Given the description of an element on the screen output the (x, y) to click on. 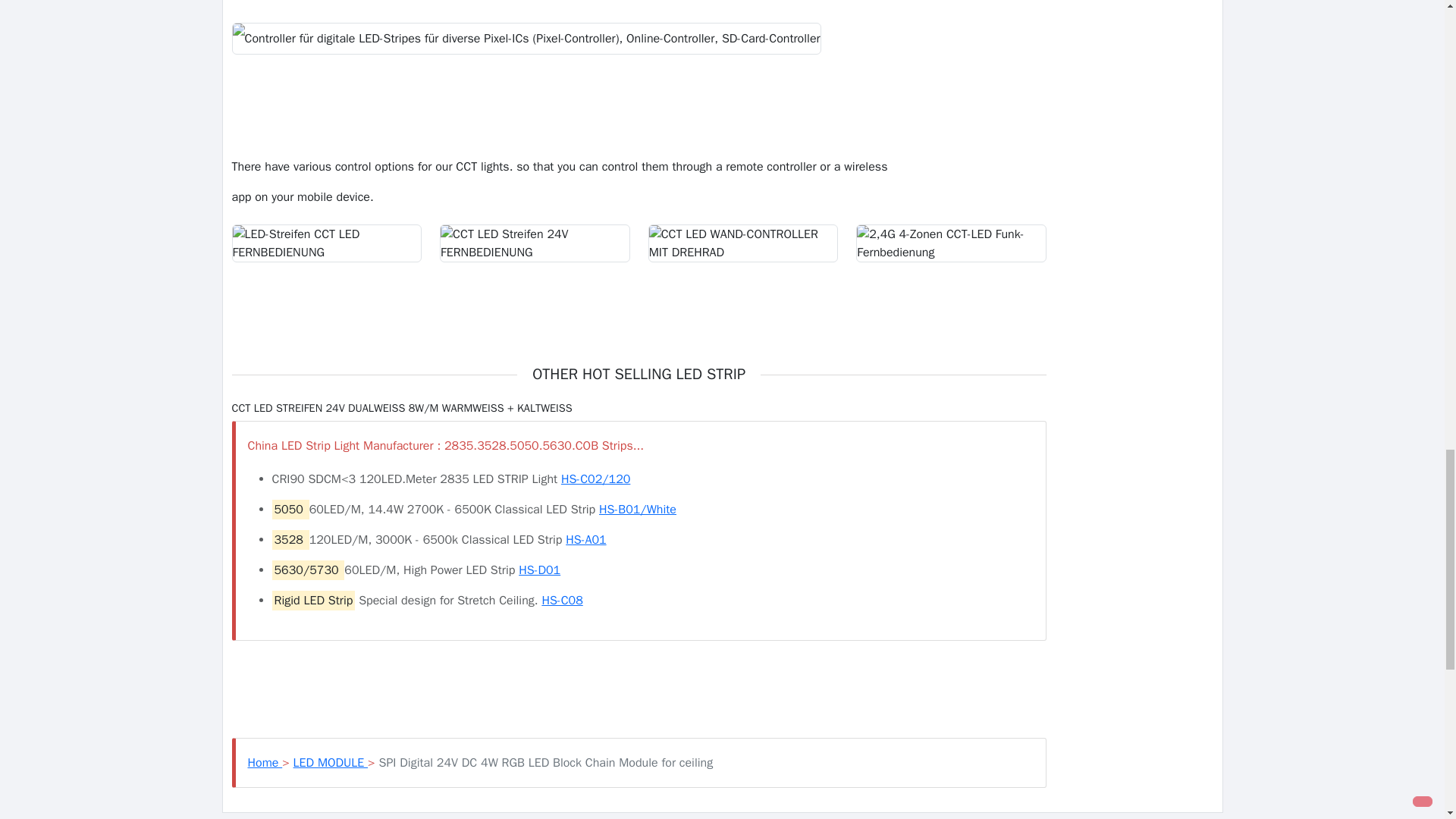
Home (264, 762)
HS-D01 (539, 570)
HS-A01 (585, 539)
HS-C08 (561, 600)
LED MODULE (331, 762)
